Given the description of an element on the screen output the (x, y) to click on. 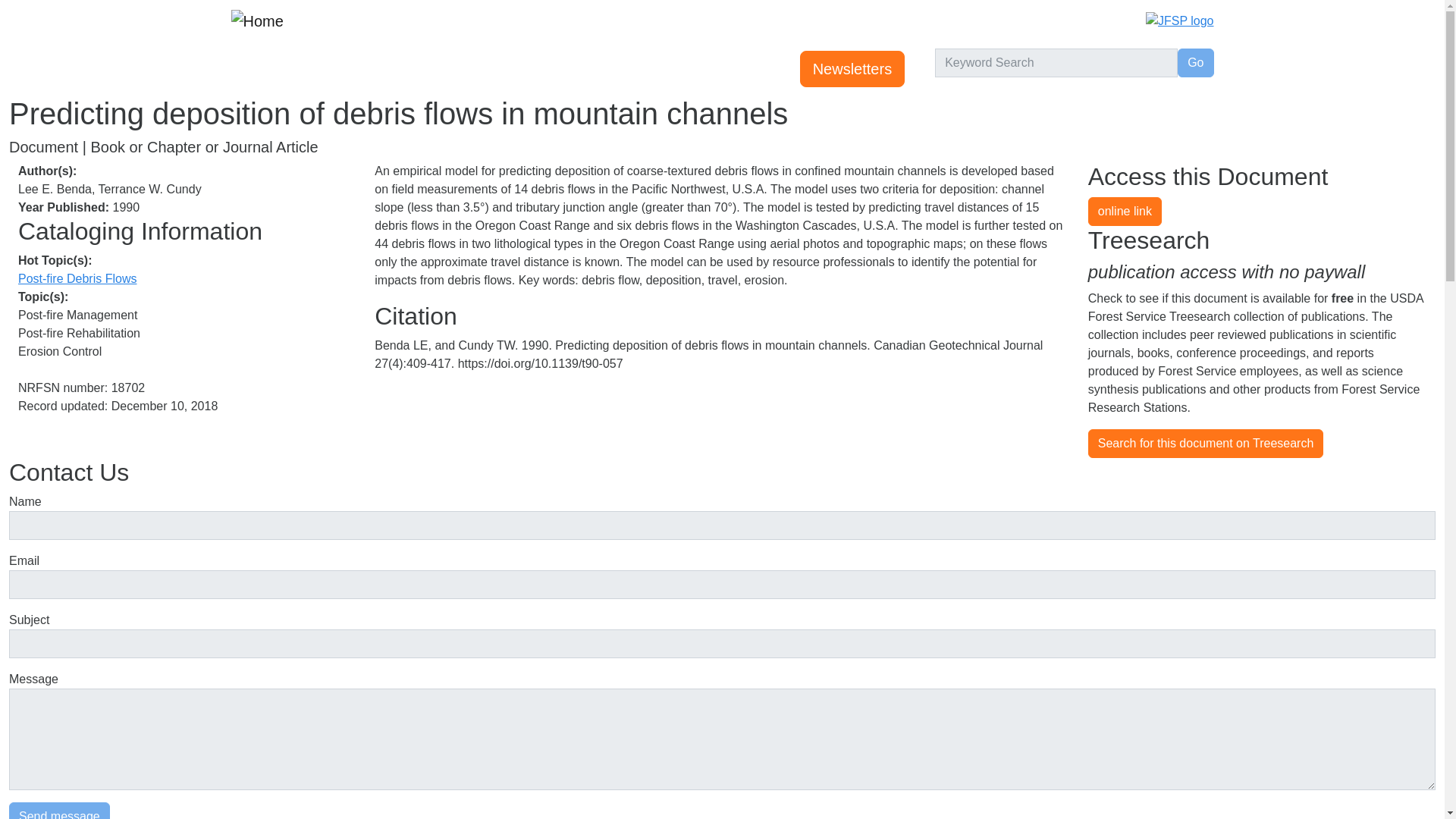
Hot Topics (501, 69)
Home (252, 69)
About Us (668, 69)
Our Products (585, 69)
Home (262, 20)
Research Database (398, 69)
Events (304, 69)
